Given the description of an element on the screen output the (x, y) to click on. 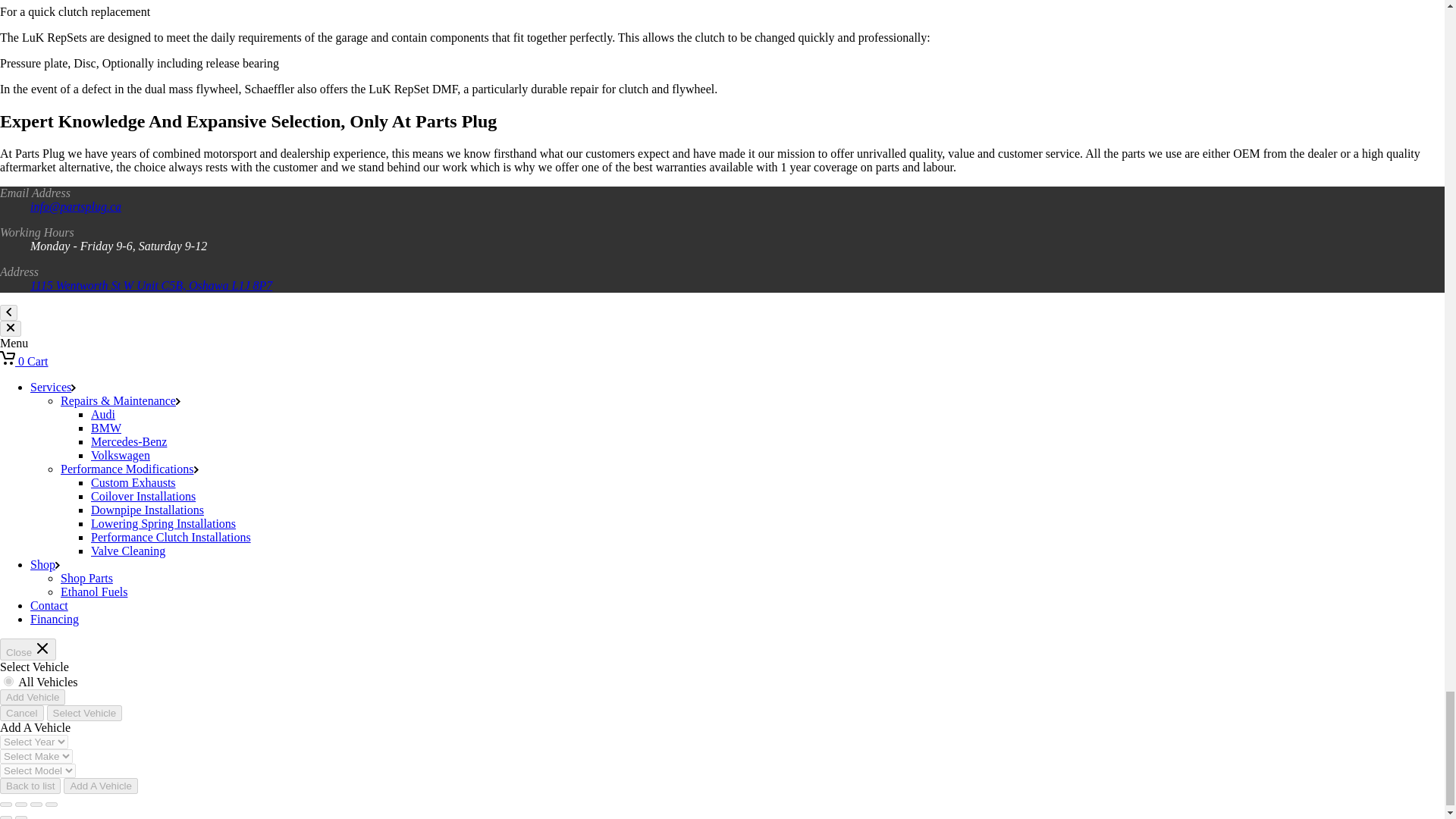
1115 Wentworth St W Unit C5B, Oshawa L1J 8P7 (151, 285)
on (8, 681)
0 Cart (24, 360)
